Given the description of an element on the screen output the (x, y) to click on. 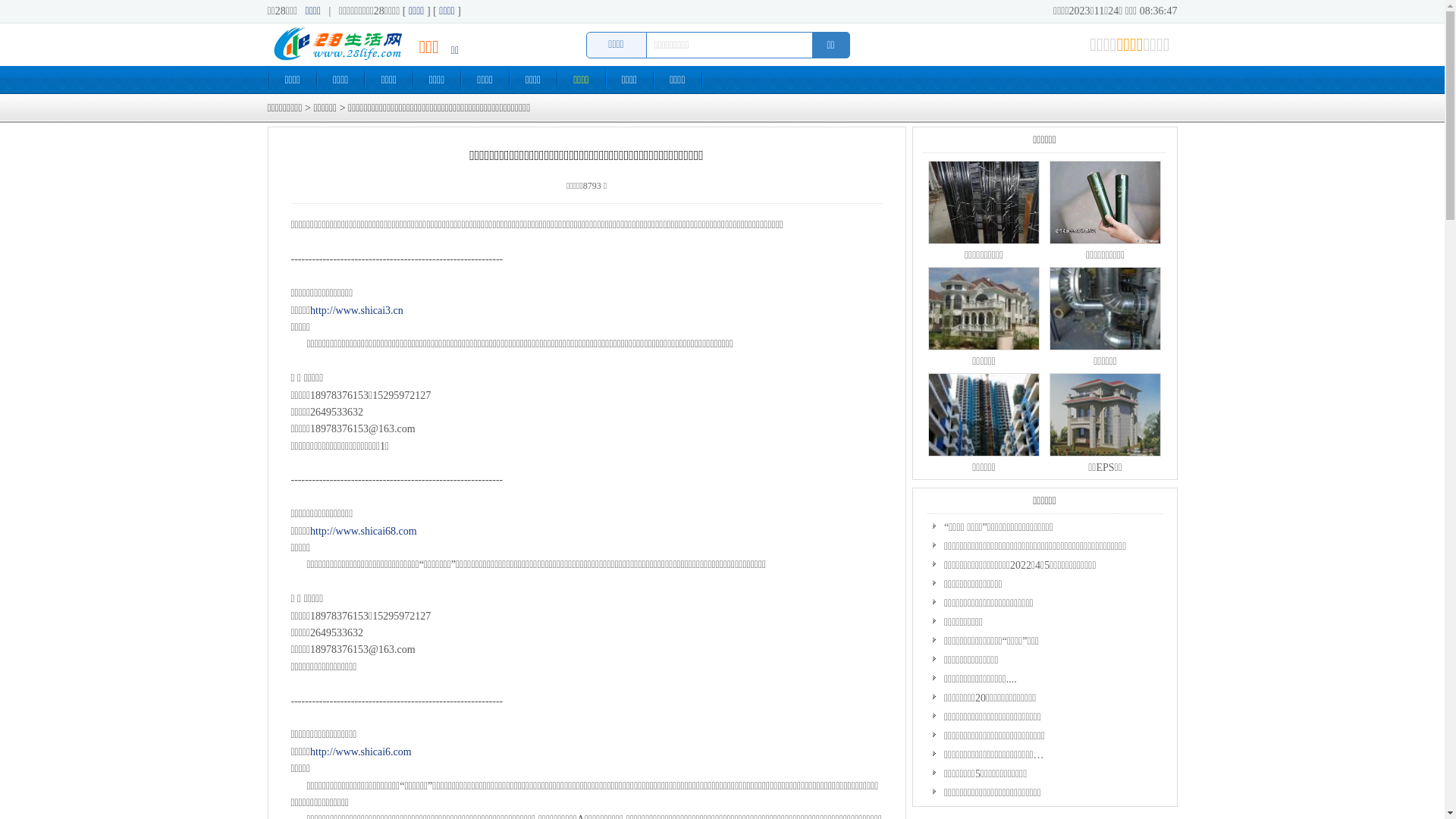
http://www.shicai68.com Element type: text (363, 530)
http://www.shicai3.cn Element type: text (356, 310)
http://www.shicai6.com Element type: text (360, 751)
